Given the description of an element on the screen output the (x, y) to click on. 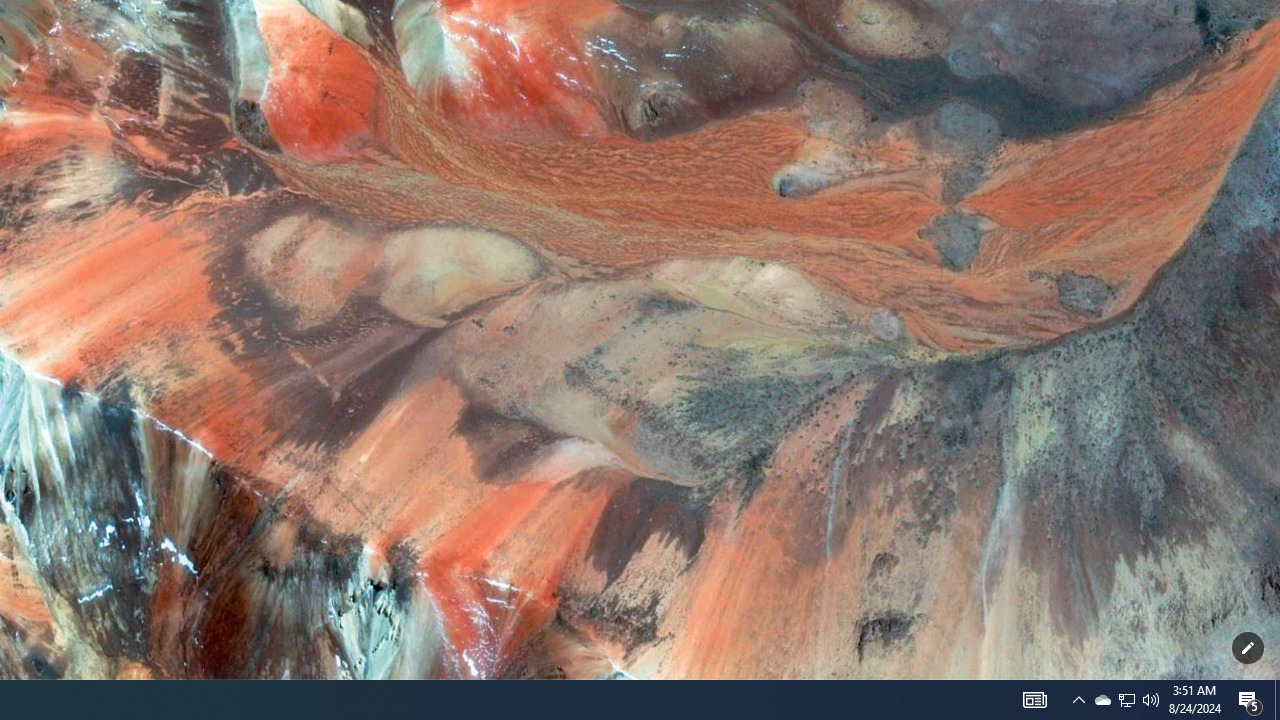
Customize this page (1247, 647)
